Given the description of an element on the screen output the (x, y) to click on. 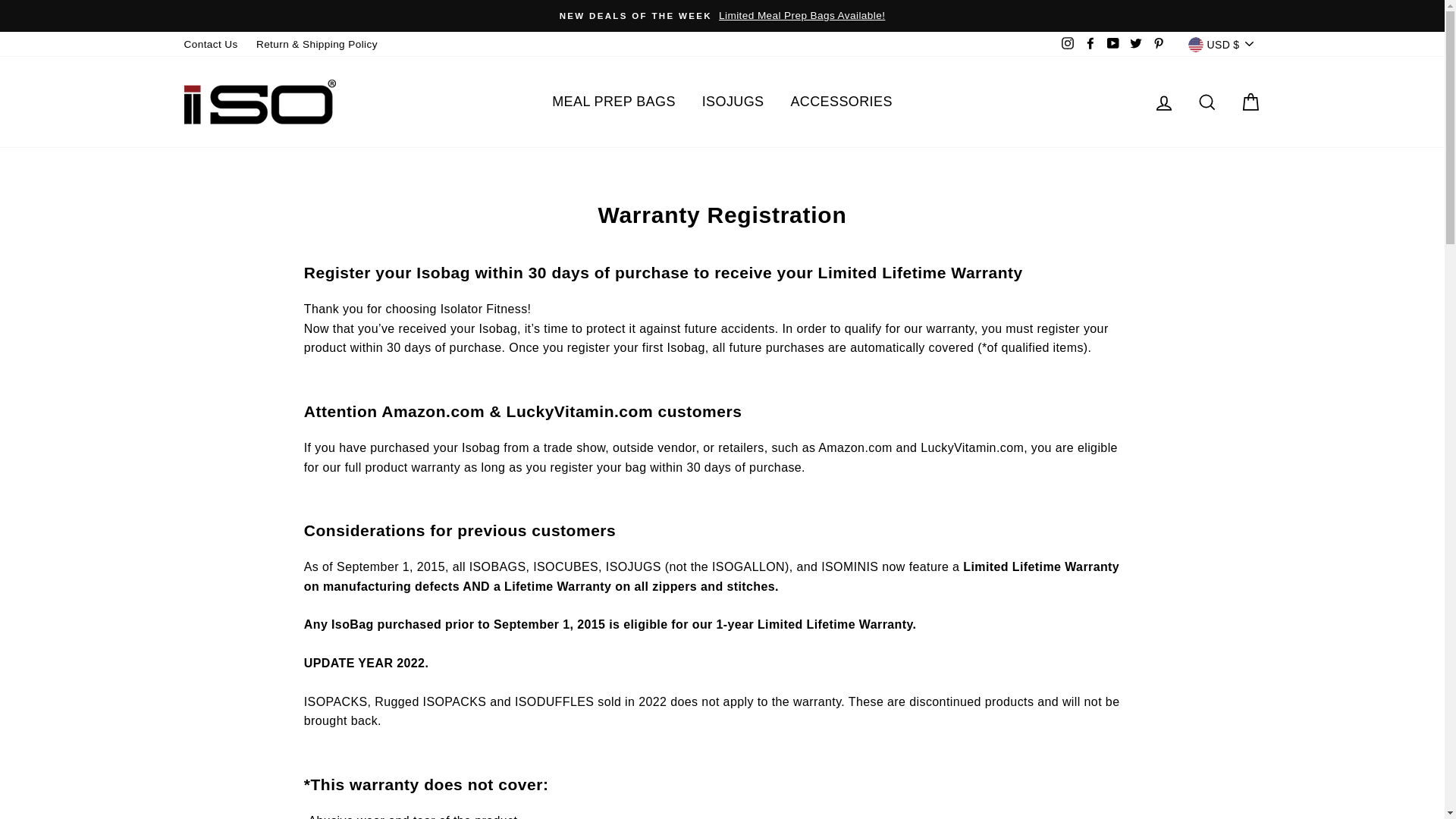
Contact Us (210, 44)
NEW DEALS OF THE WEEK Limited Meal Prep Bags Available! (722, 15)
